Given the description of an element on the screen output the (x, y) to click on. 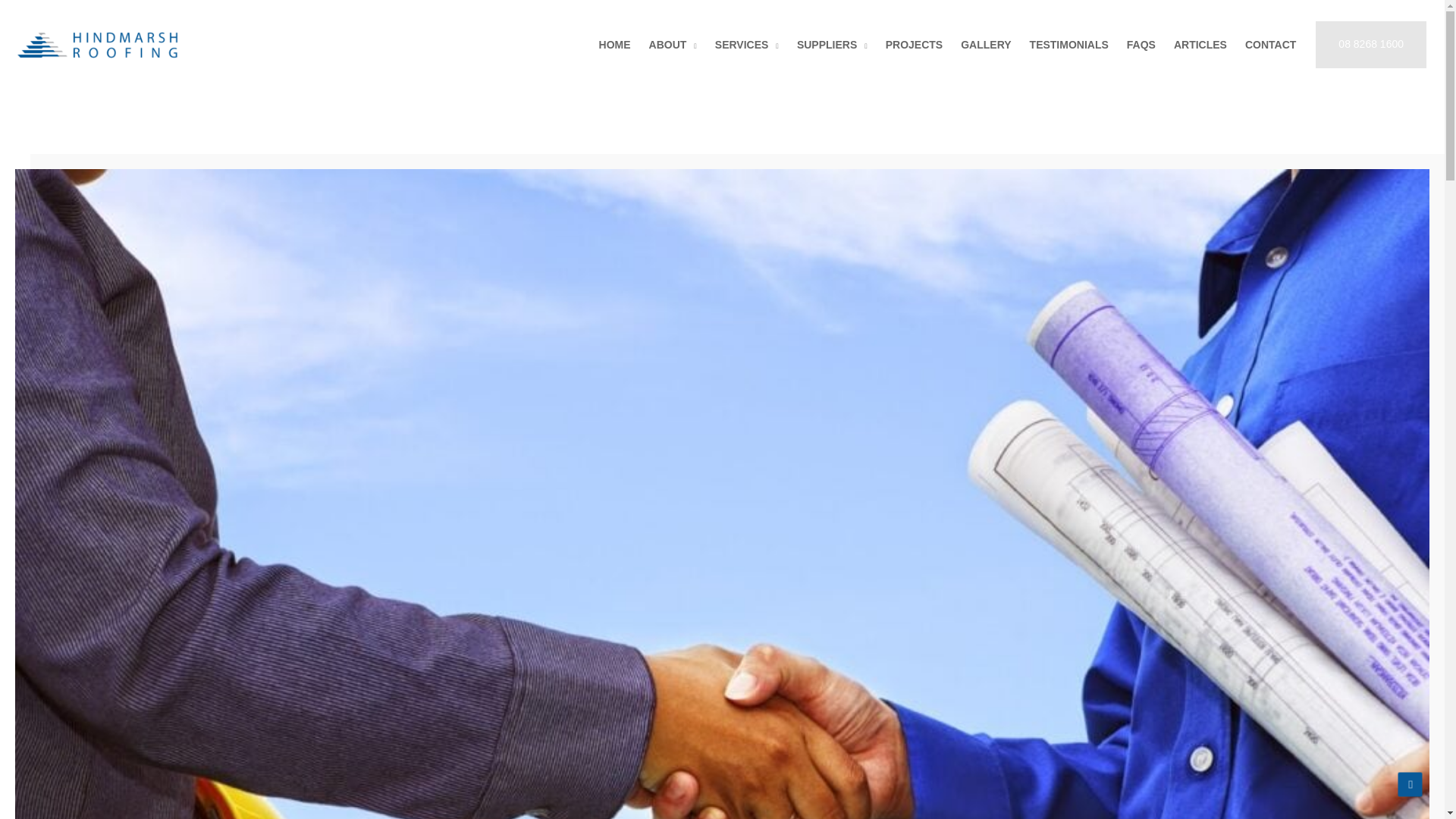
TESTIMONIALS (1069, 44)
ABOUT (673, 44)
SUPPLIERS (831, 44)
CONTACT (1270, 44)
PROJECTS (914, 44)
GALLERY (986, 44)
SERVICES (746, 44)
08 8268 1600 (1371, 44)
ARTICLES (1200, 44)
Scroll to Top (1409, 784)
